Given the description of an element on the screen output the (x, y) to click on. 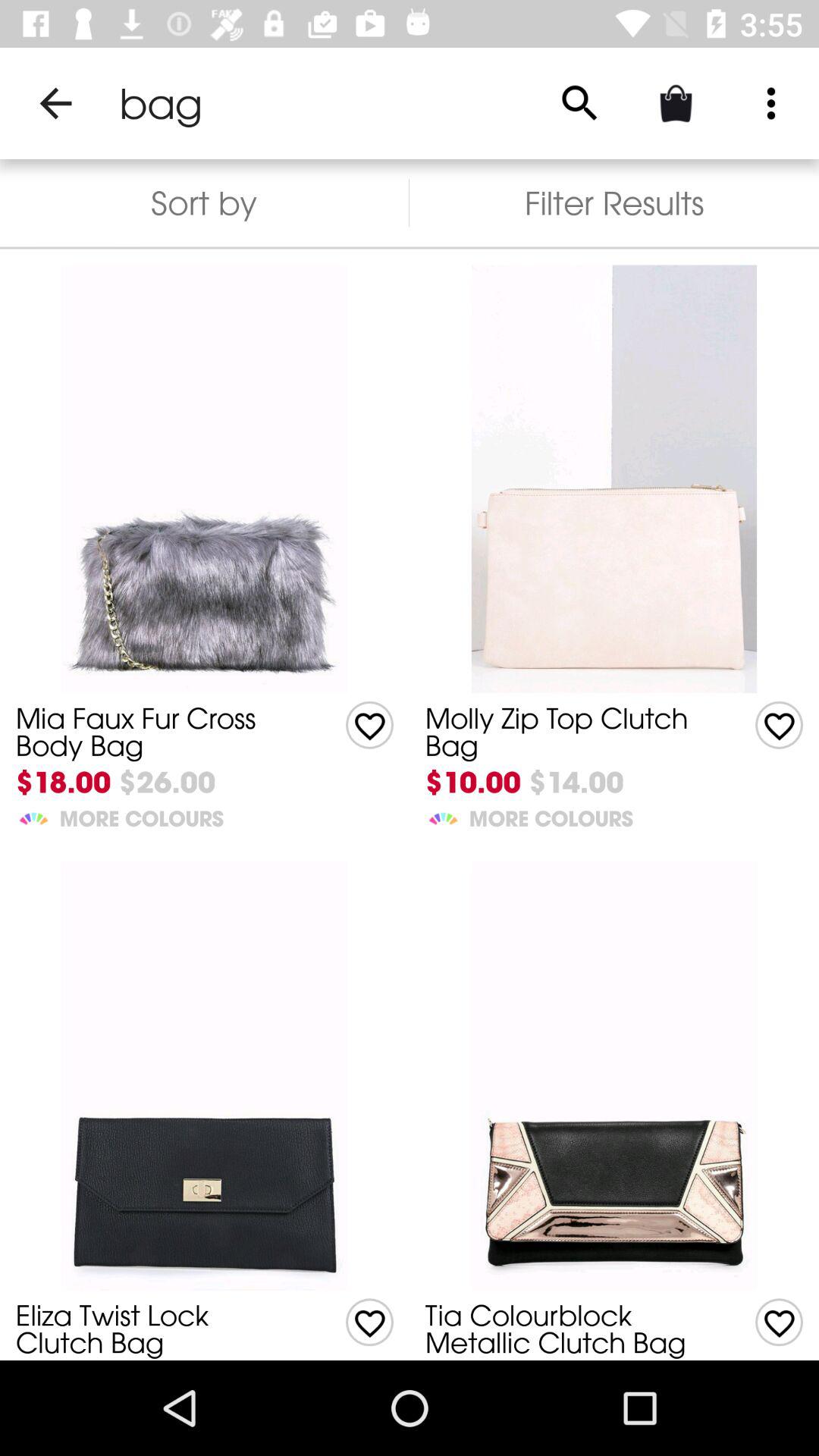
like the molly zip top clutch bag (369, 725)
